Given the description of an element on the screen output the (x, y) to click on. 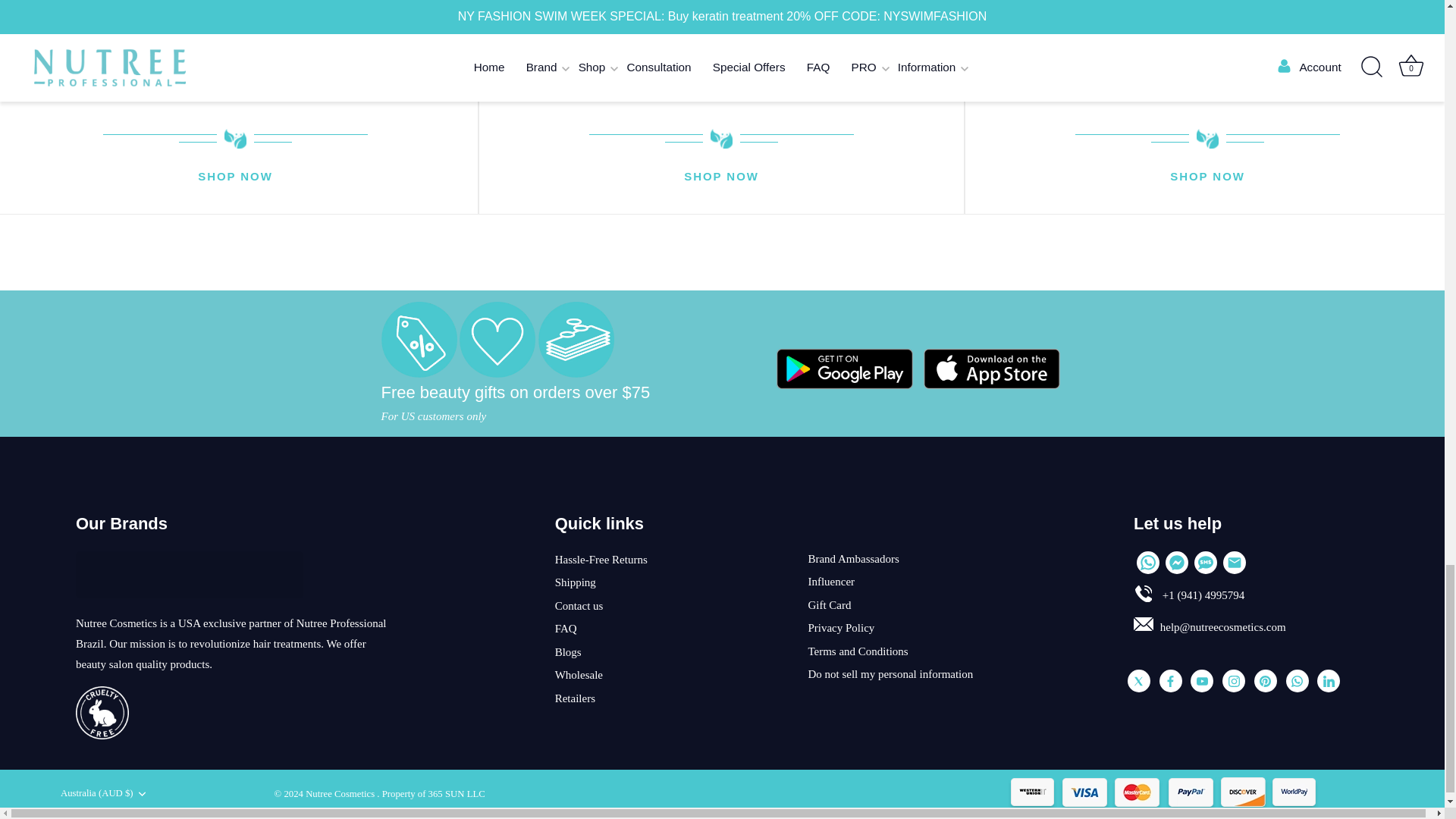
Shop Now (234, 177)
Shop Now (1207, 177)
Shop Now (721, 177)
